Given the description of an element on the screen output the (x, y) to click on. 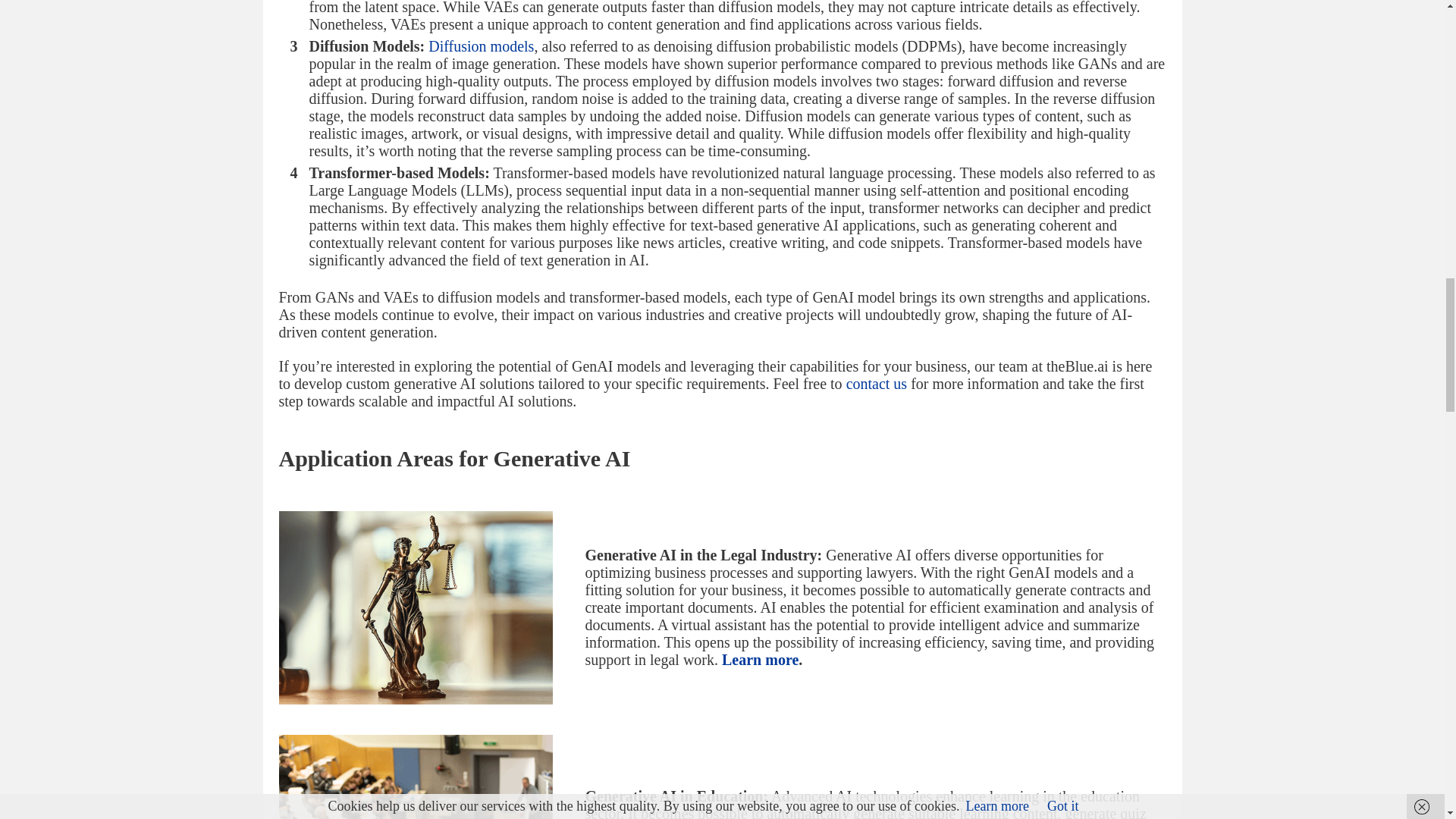
Learn more (759, 659)
contact us (876, 383)
Diffusion models (481, 45)
